Given the description of an element on the screen output the (x, y) to click on. 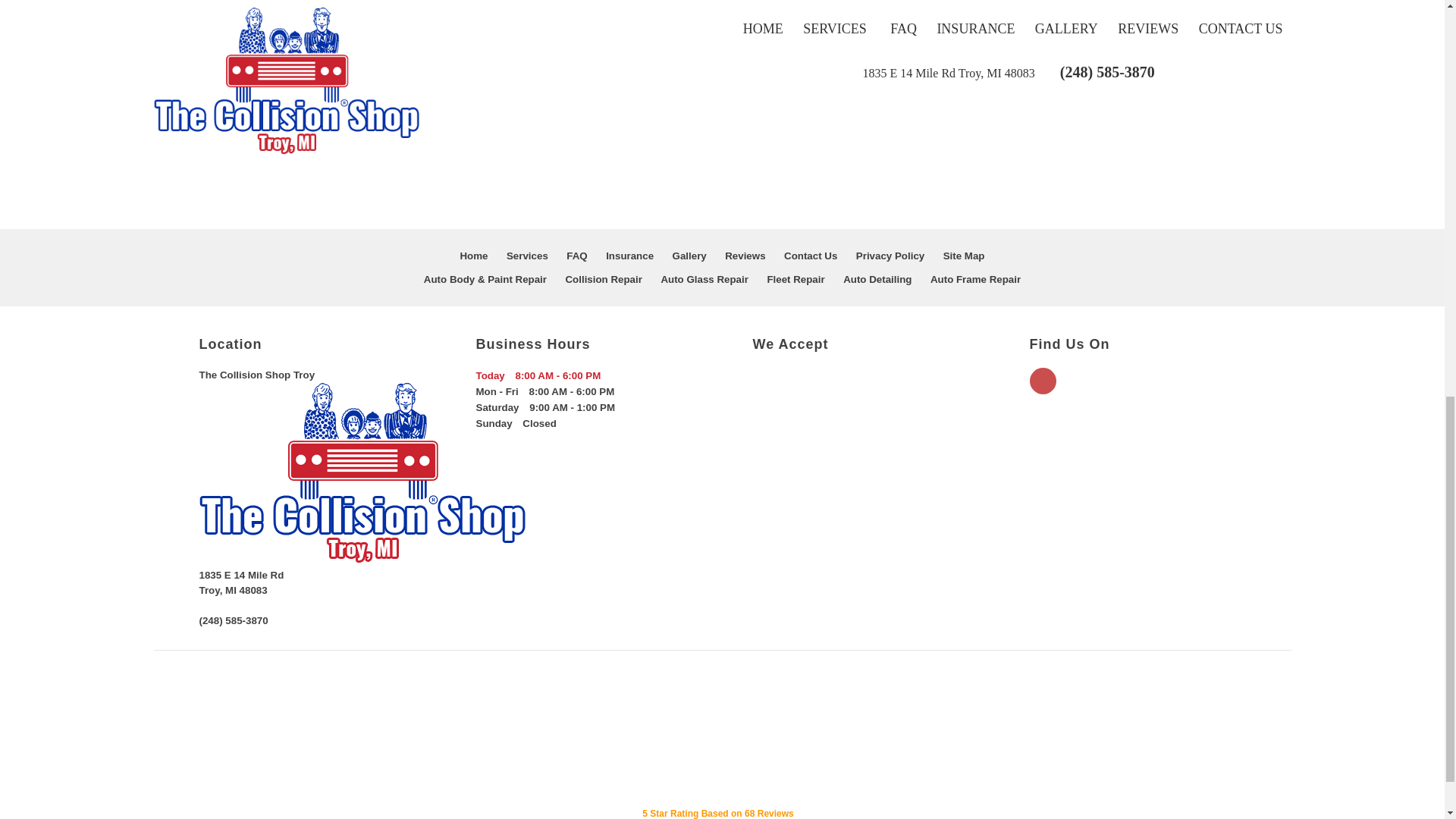
Contact Us (810, 255)
Collision Repair (603, 279)
Reviews (745, 255)
Privacy Policy (890, 255)
FAQ (576, 255)
Insurance (629, 255)
Home (473, 255)
Auto Glass Repair (704, 279)
Site Map (964, 255)
